Given the description of an element on the screen output the (x, y) to click on. 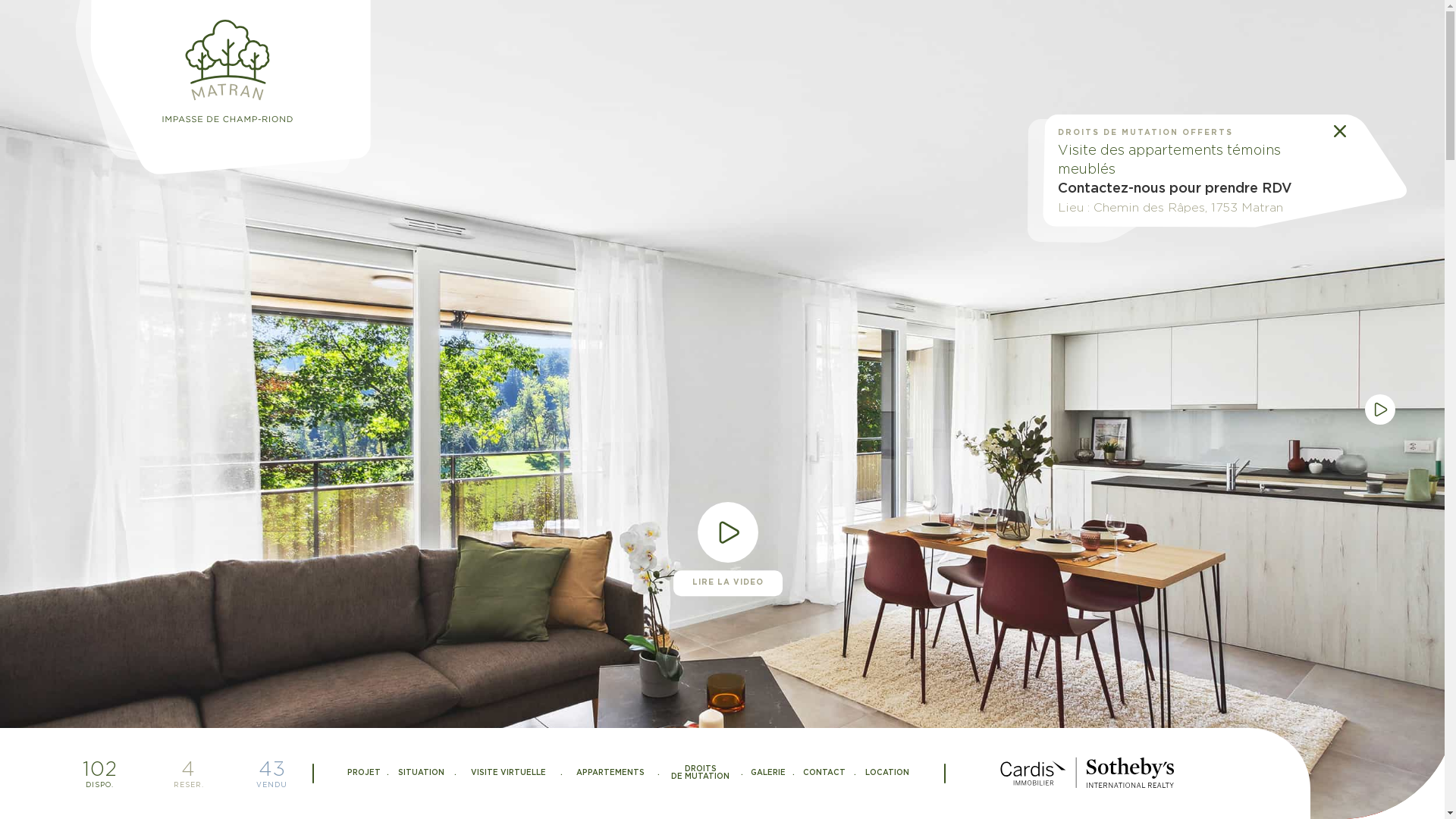
Contactez-nous pour prendre RDV Element type: text (1174, 188)
